Given the description of an element on the screen output the (x, y) to click on. 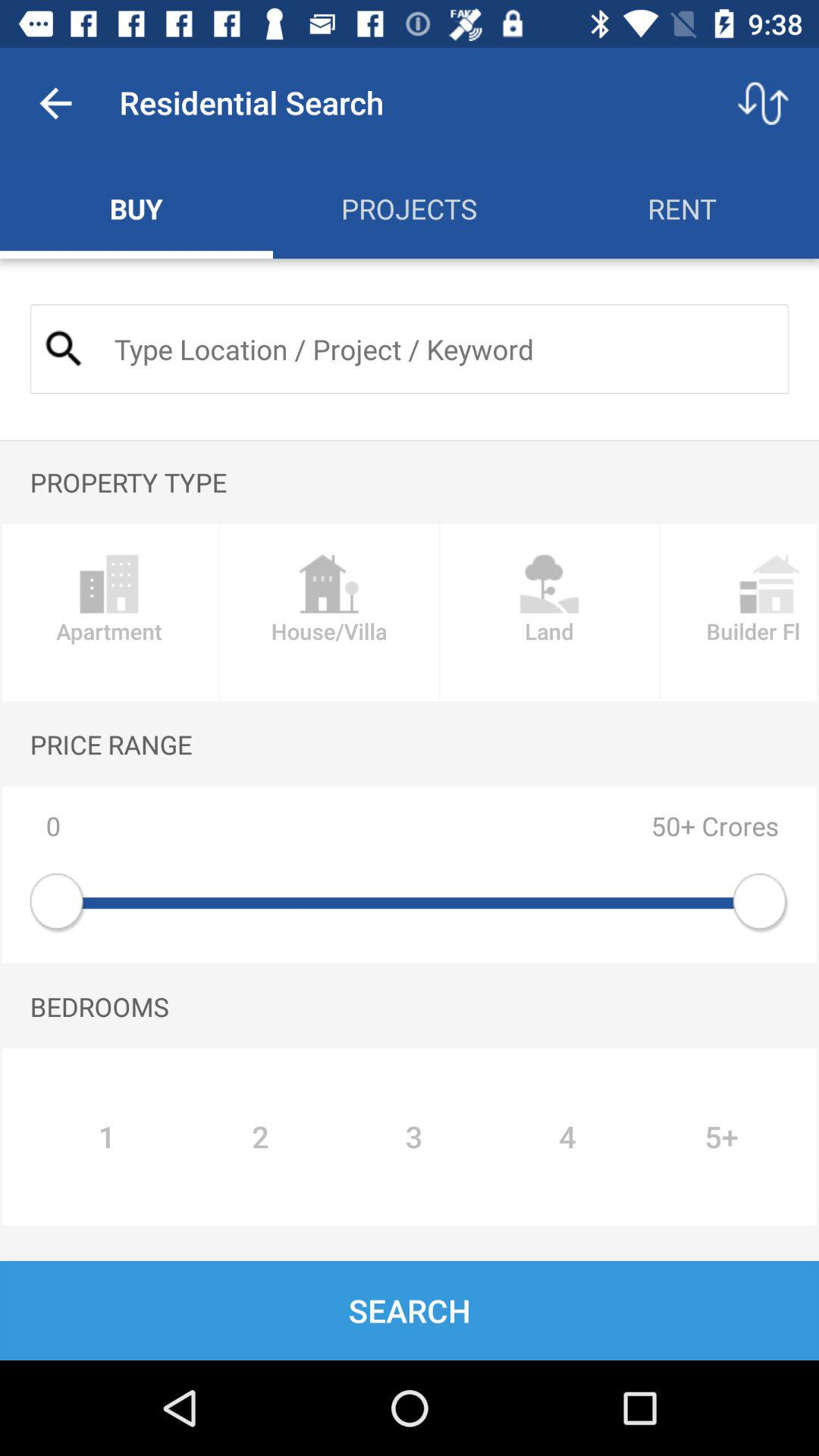
turn off app to the left of the residential search	 item (55, 103)
